Given the description of an element on the screen output the (x, y) to click on. 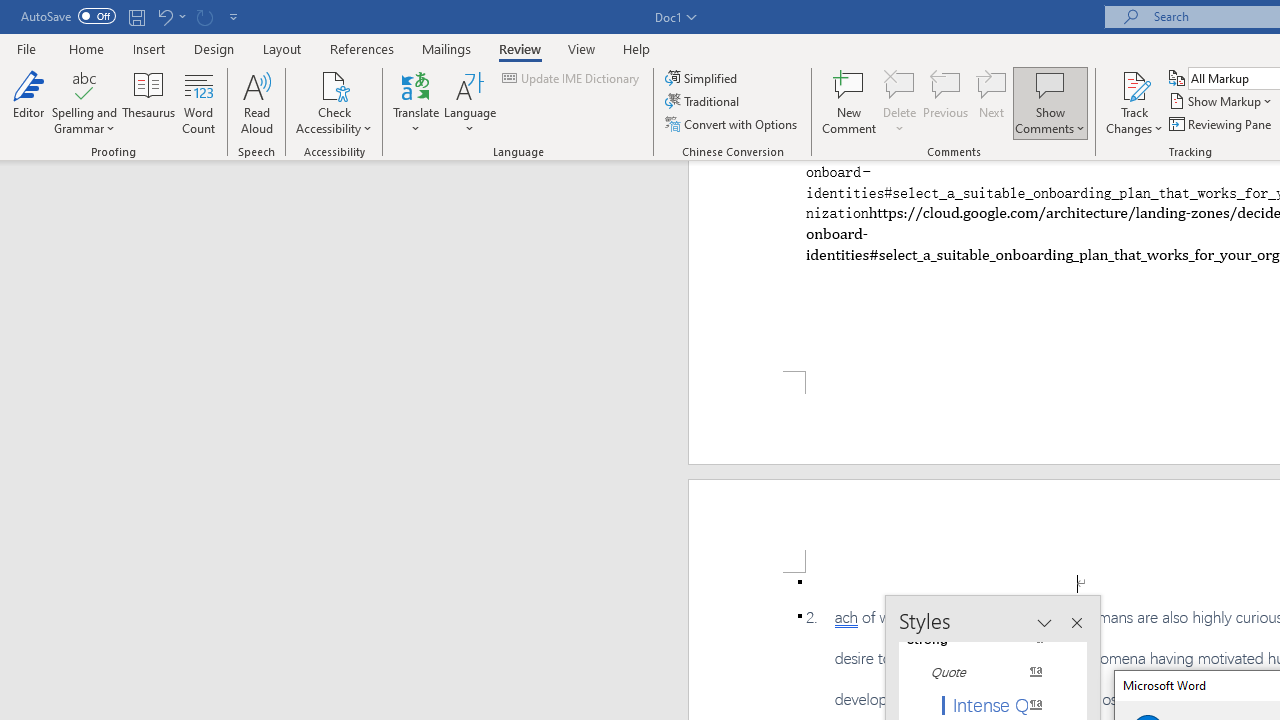
Simplified (702, 78)
Delete (900, 102)
Next (991, 102)
Word Count (198, 102)
Previous (946, 102)
Can't Repeat (204, 15)
Undo Paste (170, 15)
Read Aloud (256, 102)
Spelling and Grammar (84, 102)
Track Changes (1134, 102)
